Given the description of an element on the screen output the (x, y) to click on. 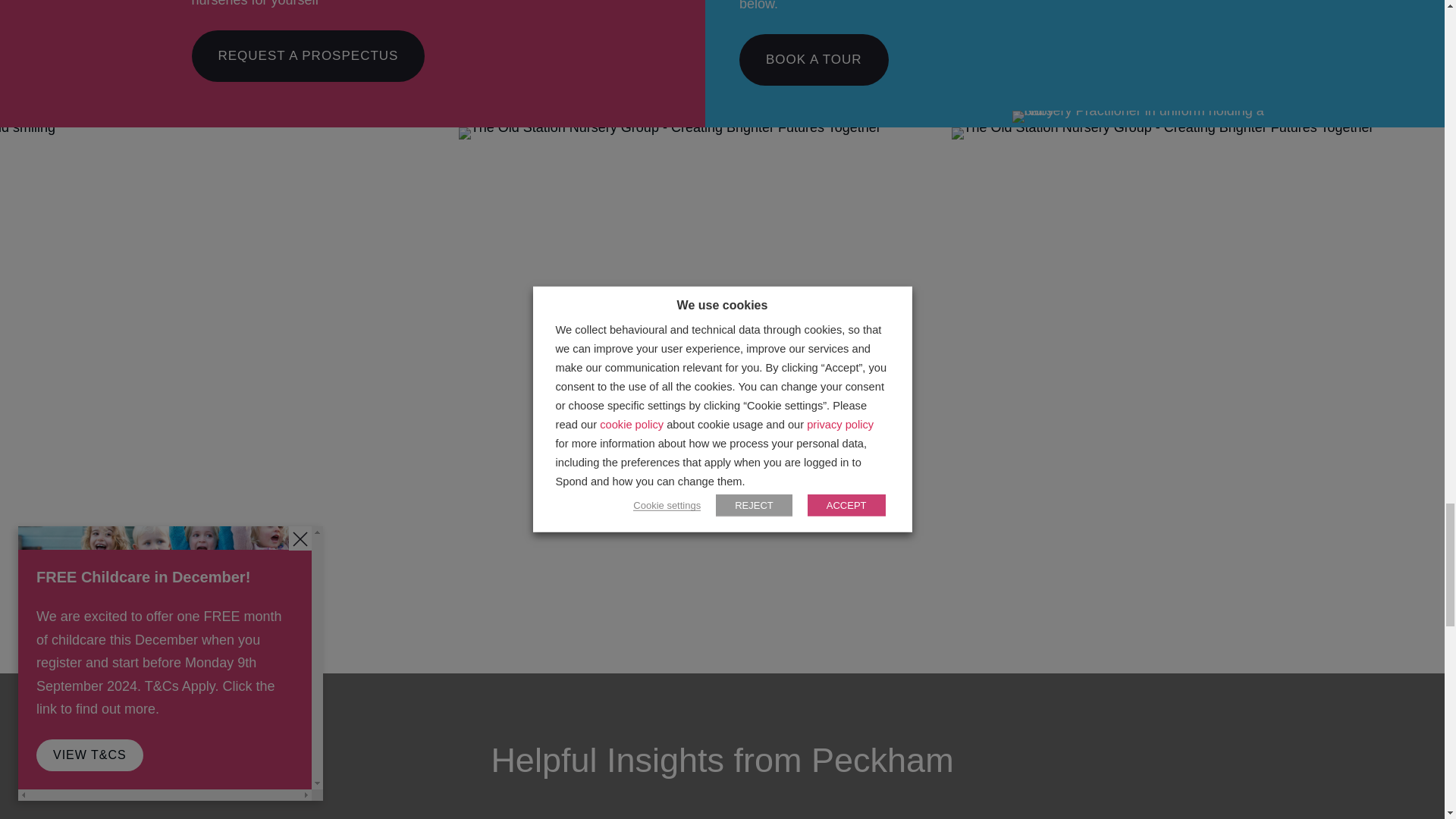
Ofsted Rated 'Good' (208, 608)
